Given the description of an element on the screen output the (x, y) to click on. 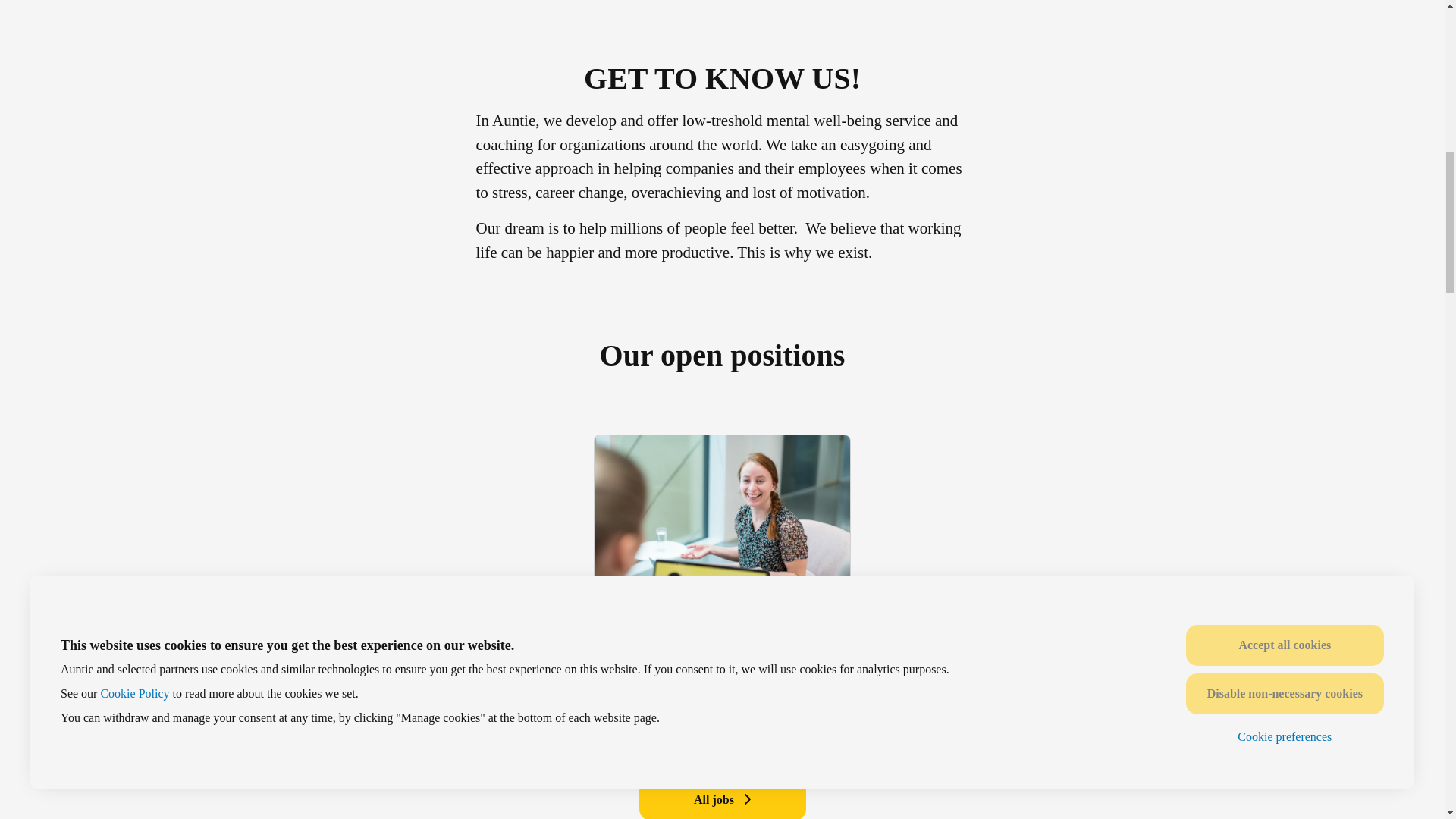
All jobs (722, 799)
Become a wellbeing professional for Auntie (722, 662)
